Given the description of an element on the screen output the (x, y) to click on. 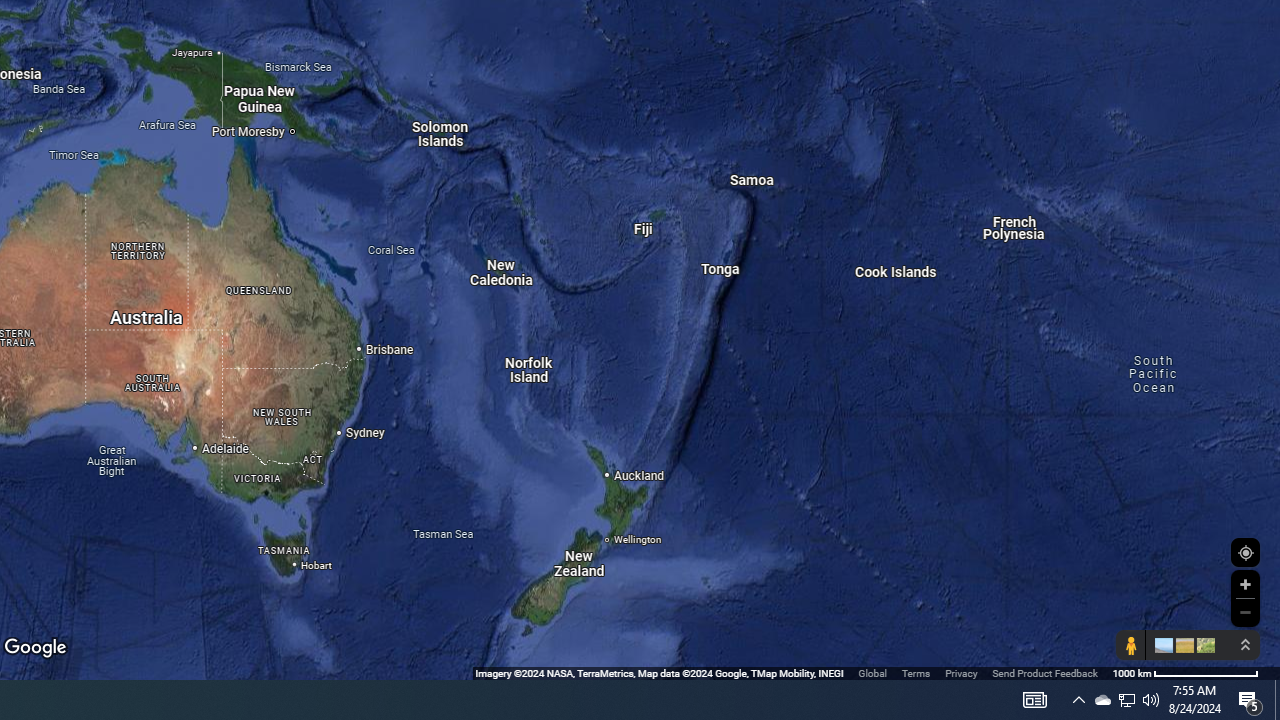
Send Product Feedback (1045, 672)
Privacy (960, 672)
Zoom out (1245, 612)
Terms (916, 672)
Show imagery (1202, 645)
Show Street View coverage (1130, 645)
Global (872, 672)
Zoom in (1245, 584)
Show Your Location (1245, 552)
1000 km (1185, 672)
